Given the description of an element on the screen output the (x, y) to click on. 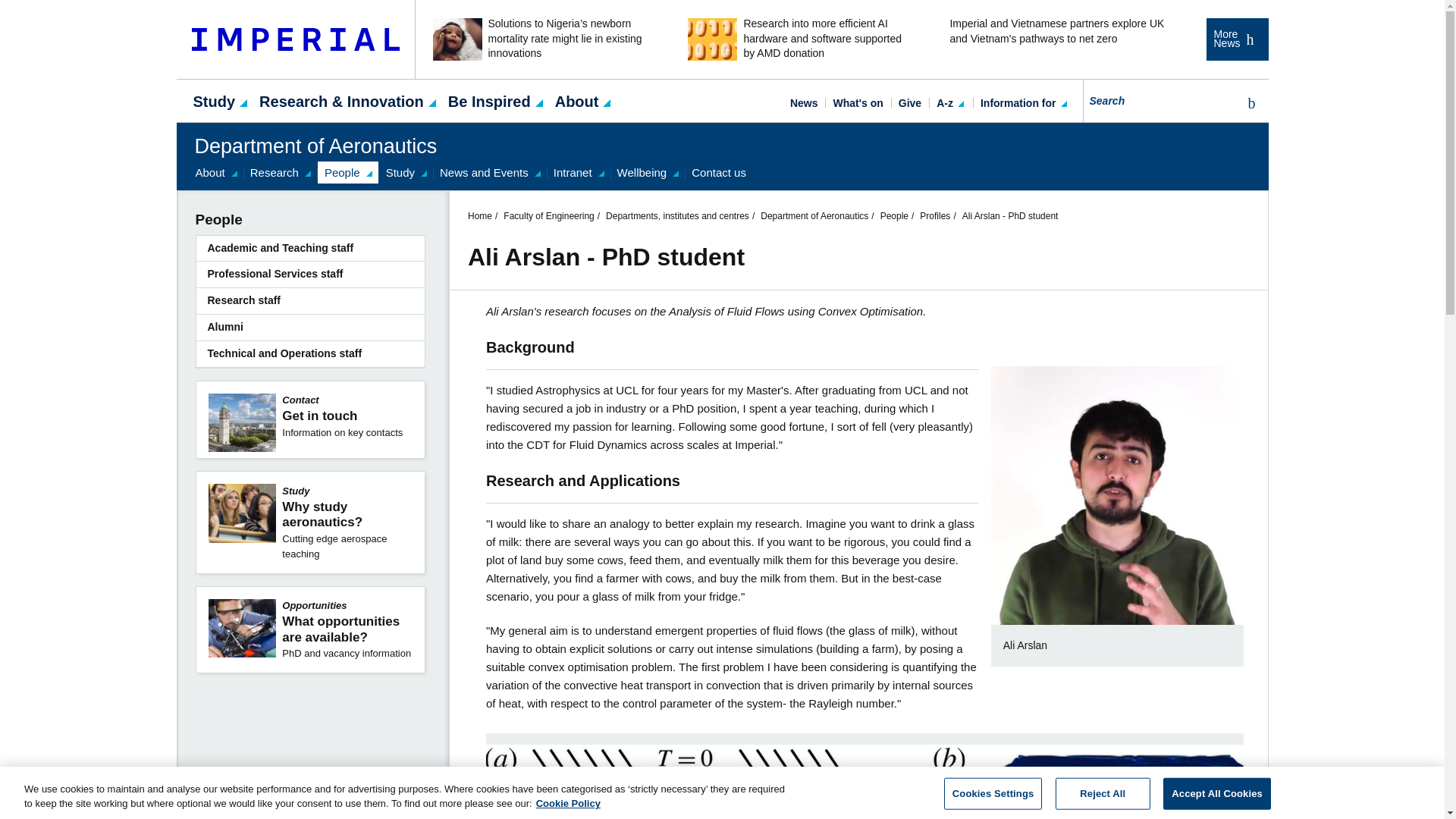
Study (213, 100)
Search for... (1161, 100)
More News (1236, 39)
Search (1249, 102)
Imperial College London Home (295, 39)
